Given the description of an element on the screen output the (x, y) to click on. 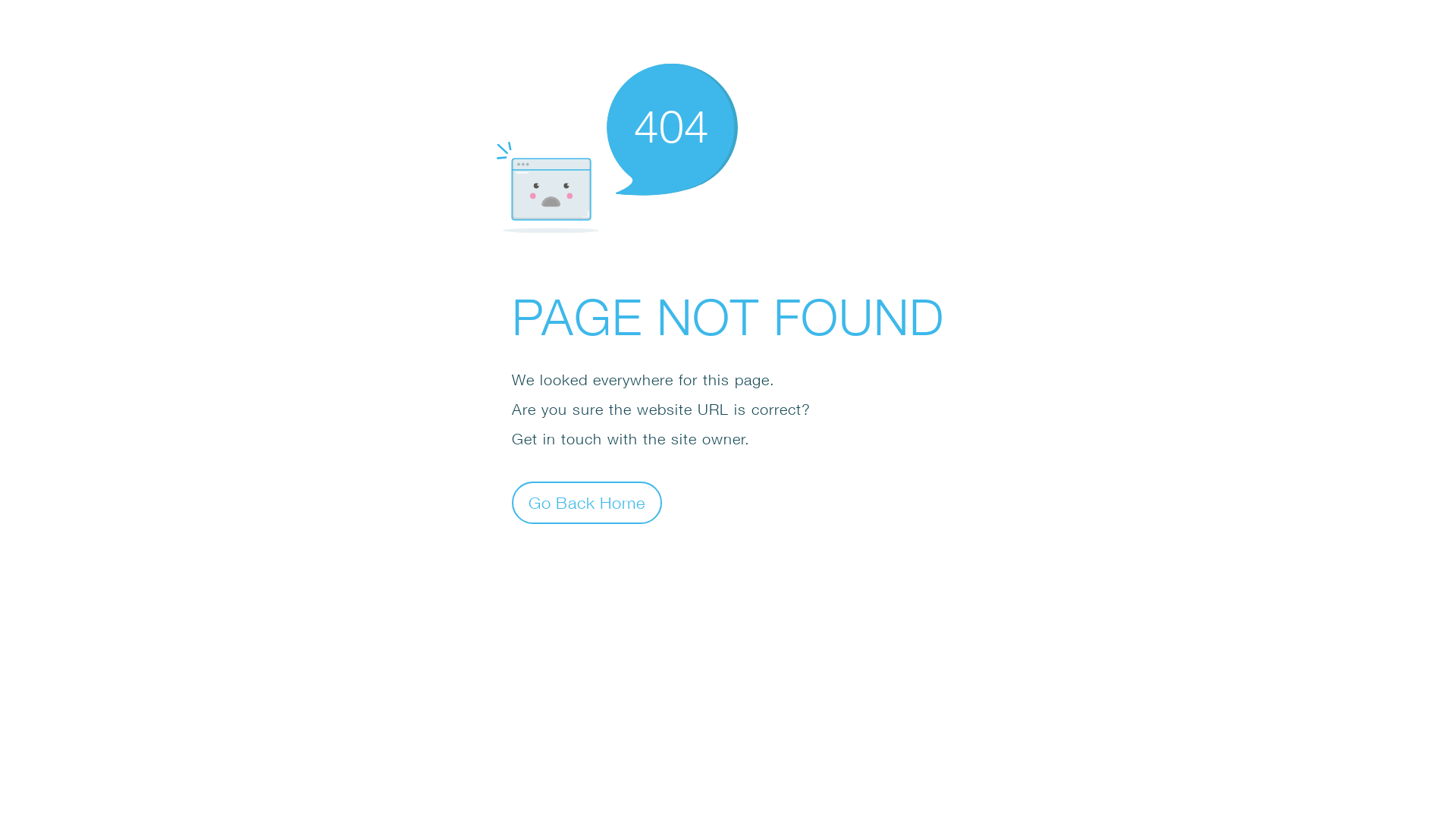
Go Back Home Element type: text (586, 502)
